Given the description of an element on the screen output the (x, y) to click on. 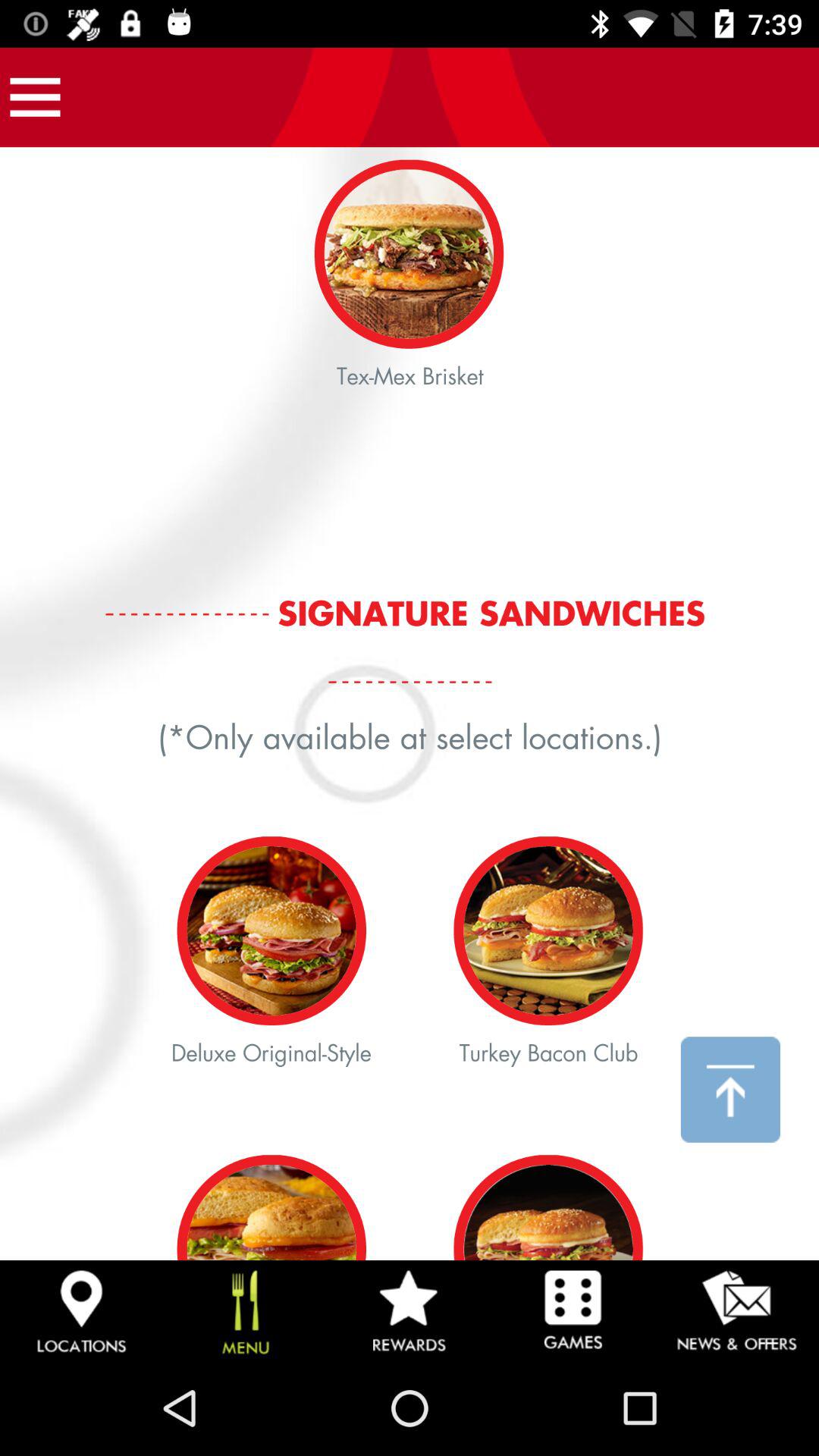
select a sandwich (409, 703)
